Given the description of an element on the screen output the (x, y) to click on. 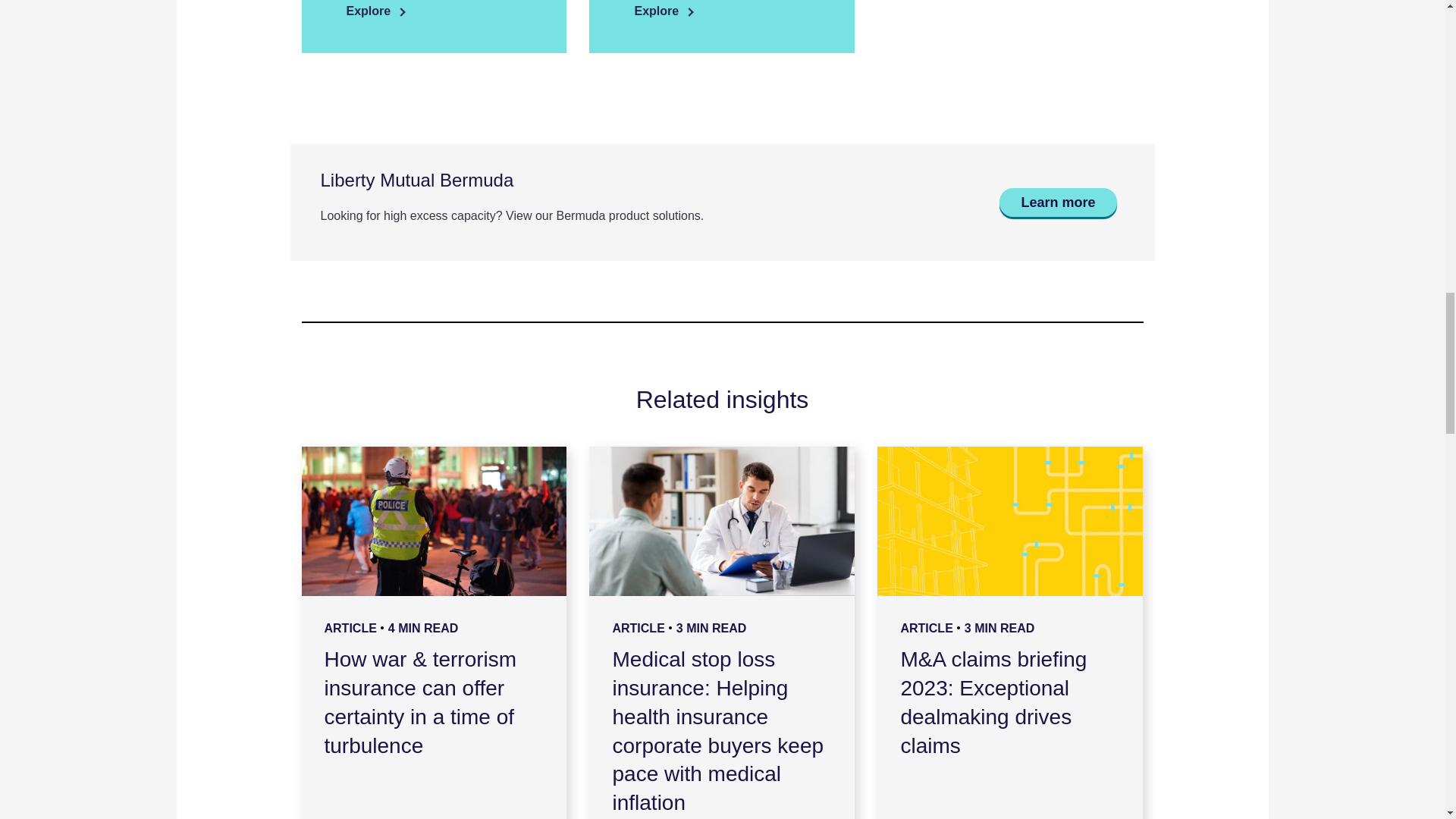
Learn more (1057, 202)
